Given the description of an element on the screen output the (x, y) to click on. 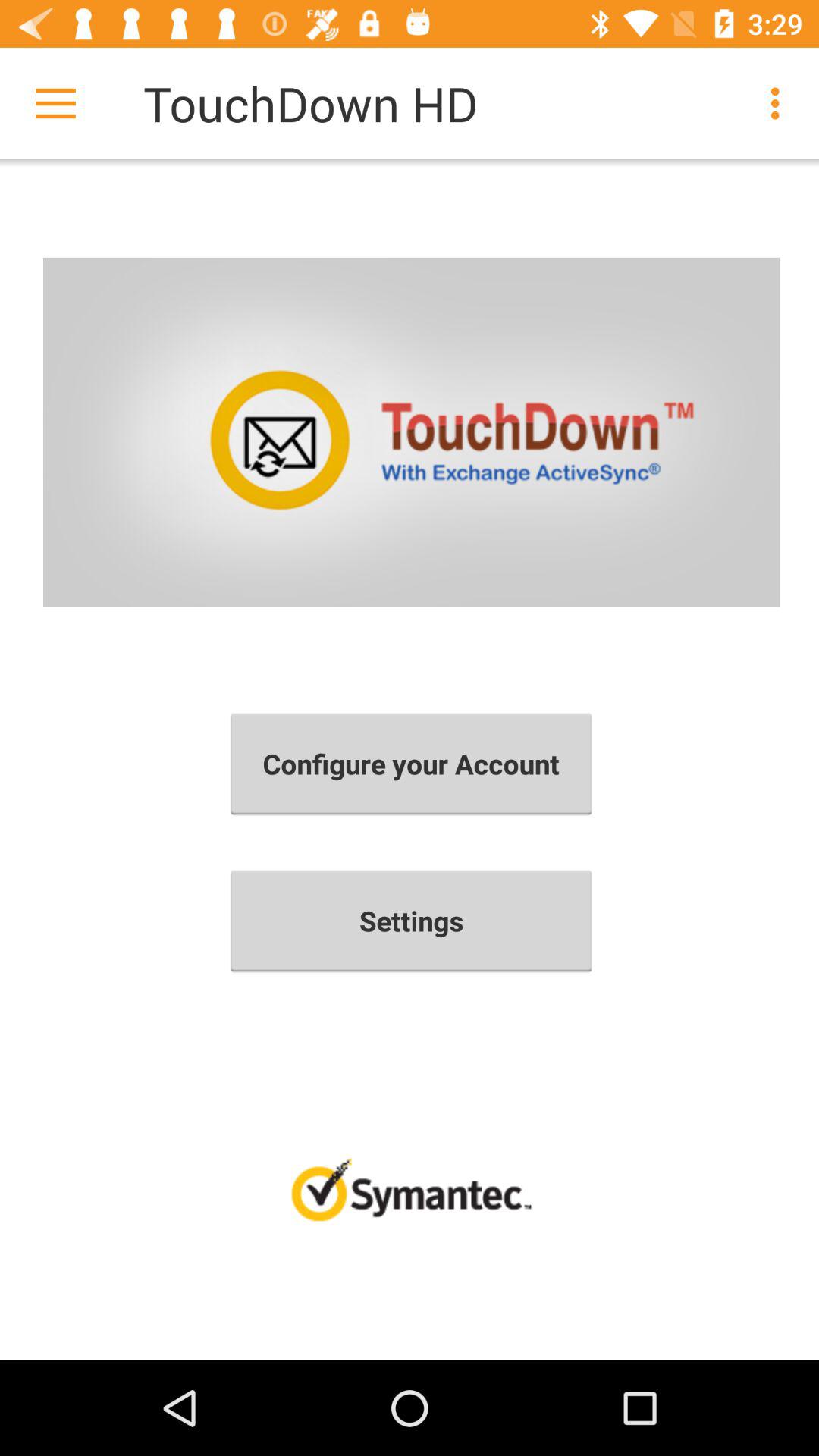
select item to the right of the touchdown hd item (779, 103)
